Given the description of an element on the screen output the (x, y) to click on. 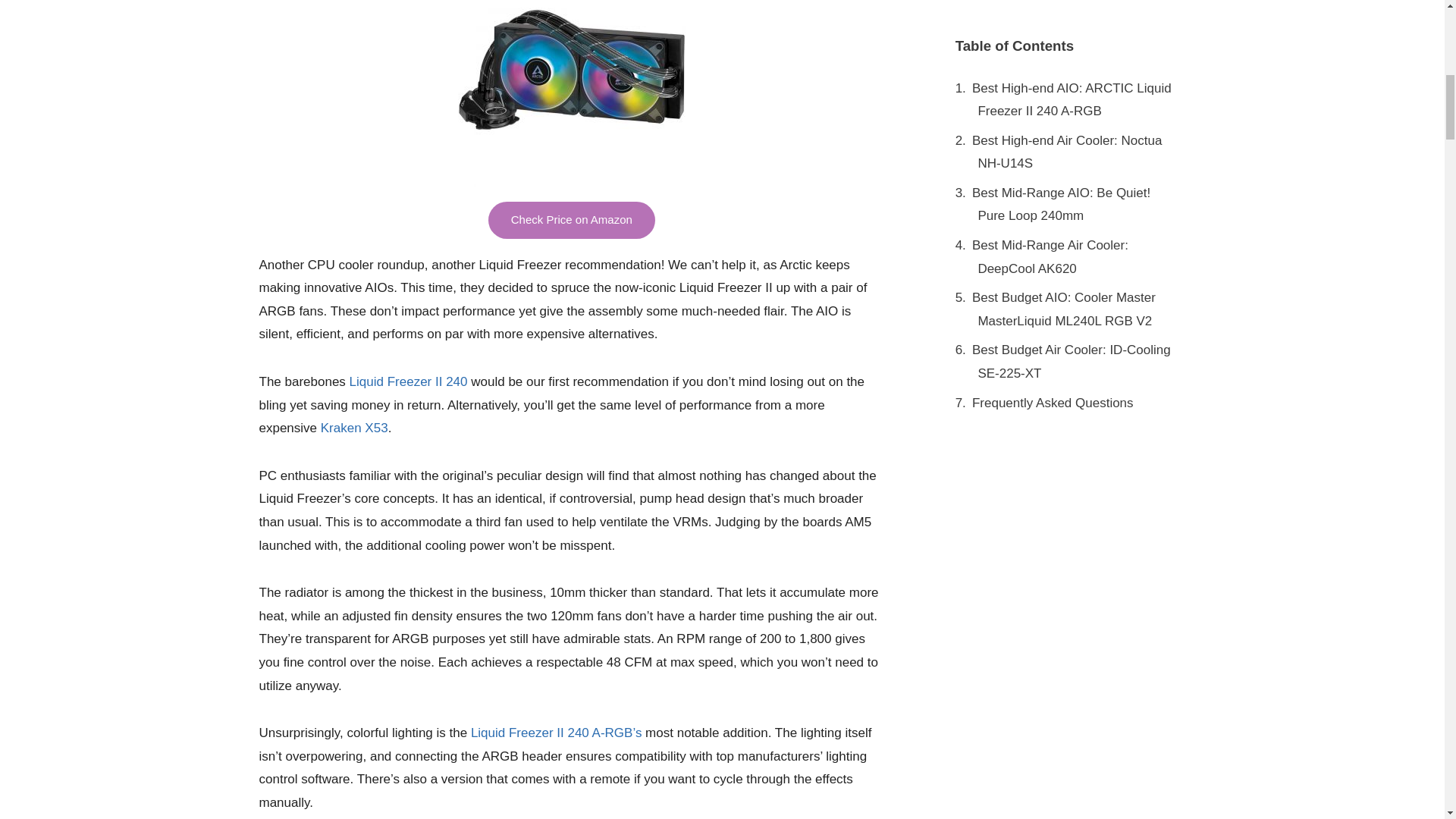
Check Price on Amazon (571, 220)
Kraken X53 (354, 427)
Liquid Freezer II 240 (408, 381)
